Given the description of an element on the screen output the (x, y) to click on. 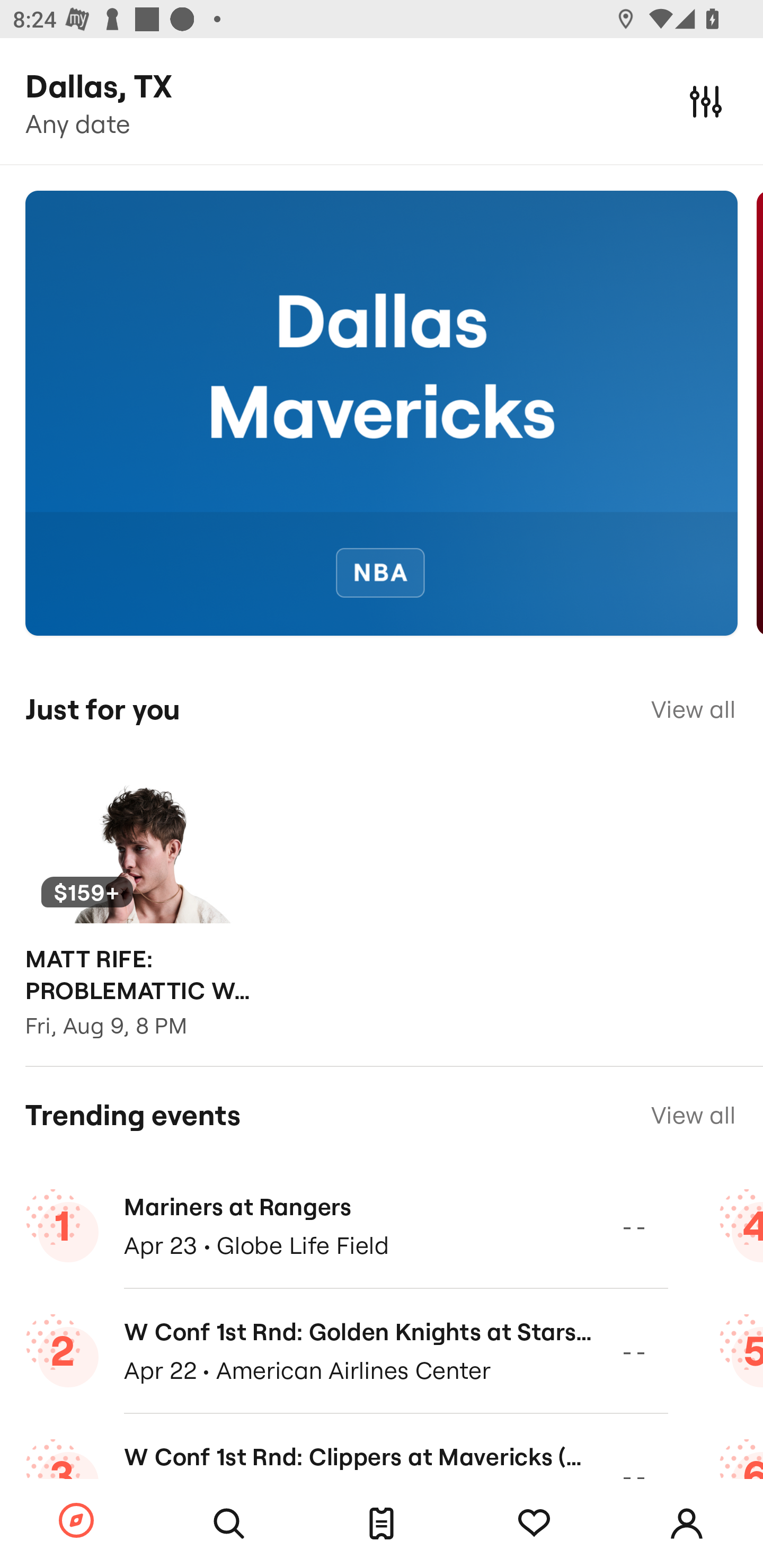
Filters (705, 100)
View all (693, 709)
View all (693, 1114)
Browse (76, 1521)
Search (228, 1523)
Tickets (381, 1523)
Tracking (533, 1523)
Account (686, 1523)
